Given the description of an element on the screen output the (x, y) to click on. 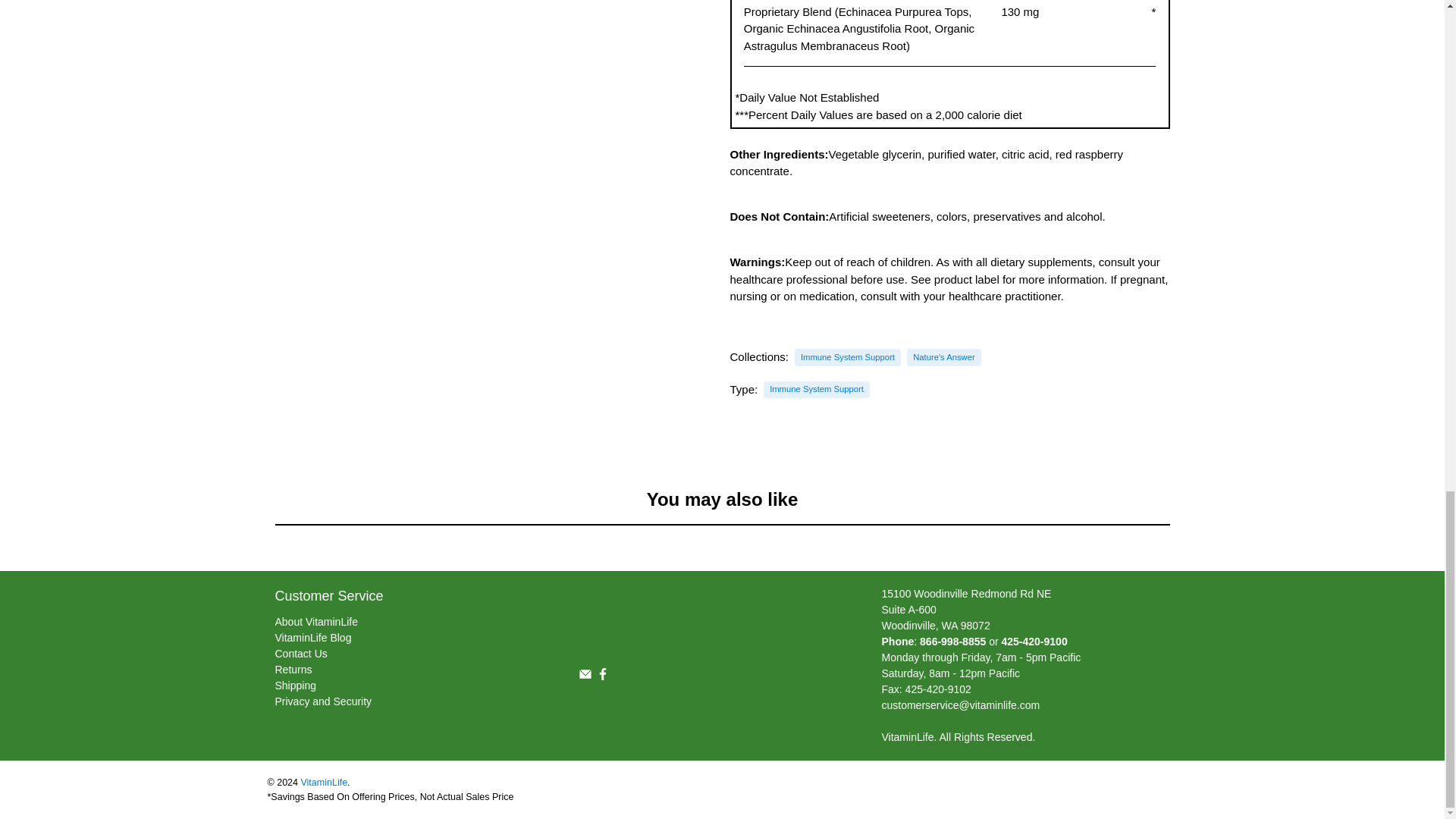
Immune System Support (816, 389)
Email VitaminLife (584, 676)
VitaminLife (693, 618)
VitaminLife on Facebook (602, 676)
Nature's Answer (943, 357)
Immune System Support (847, 357)
